Given the description of an element on the screen output the (x, y) to click on. 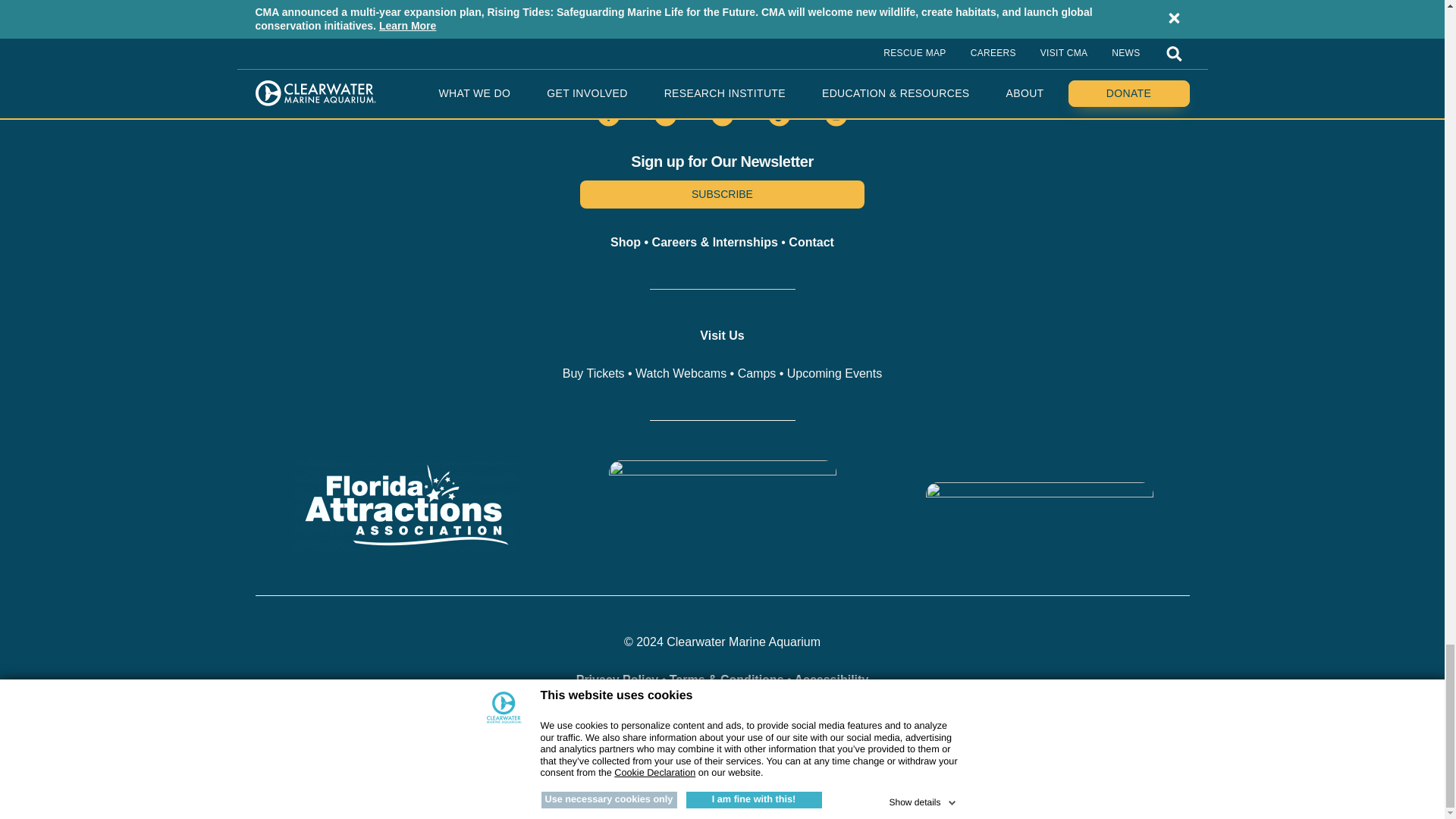
Facebook (608, 115)
Tiktok (779, 115)
Instagram (836, 115)
Youtube (664, 115)
Twitter (721, 115)
